Given the description of an element on the screen output the (x, y) to click on. 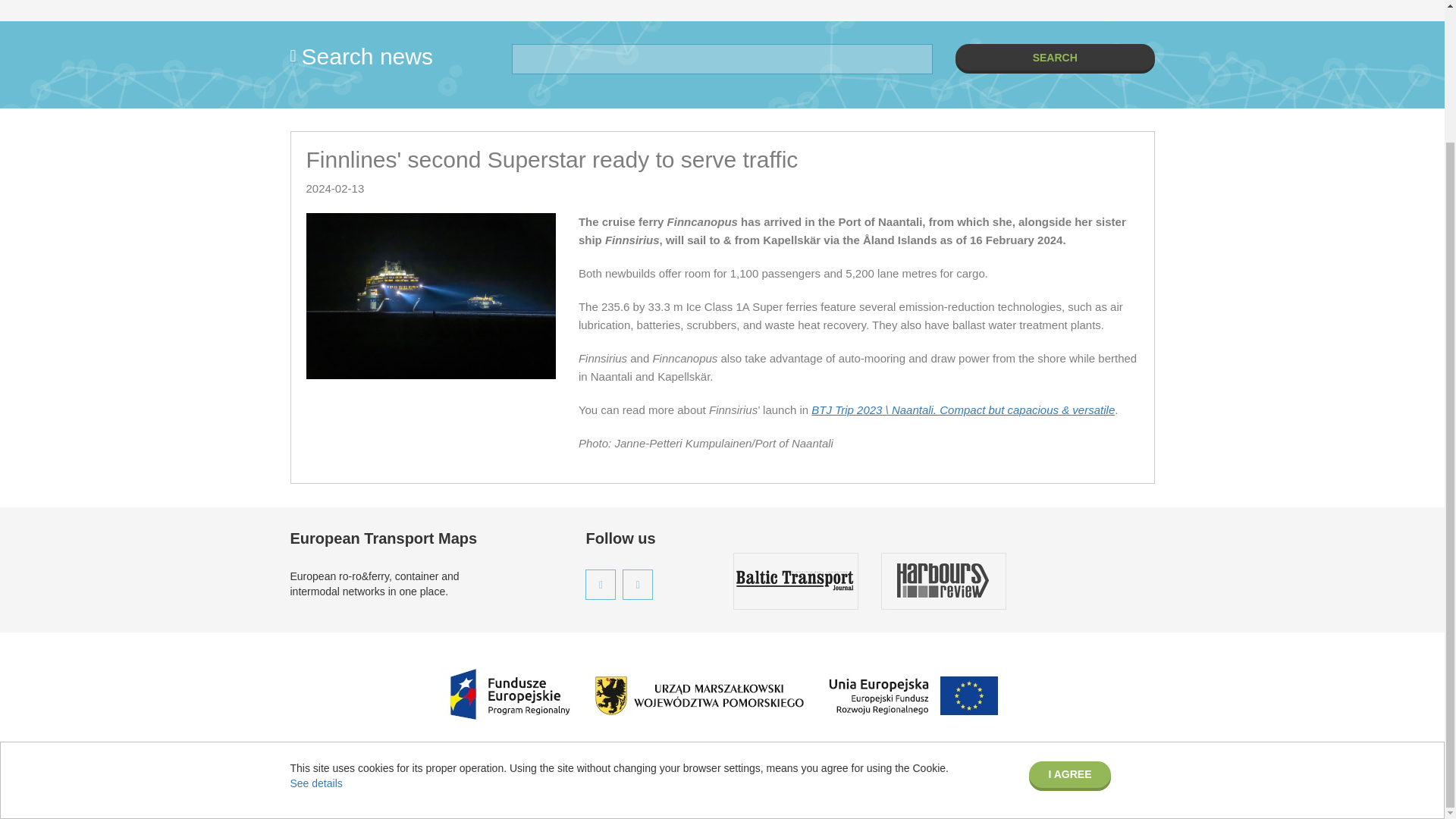
Baltic Press (360, 787)
See details (315, 621)
I AGREE (1069, 612)
SEARCH (1054, 57)
LemonMind.com (1114, 787)
